Given the description of an element on the screen output the (x, y) to click on. 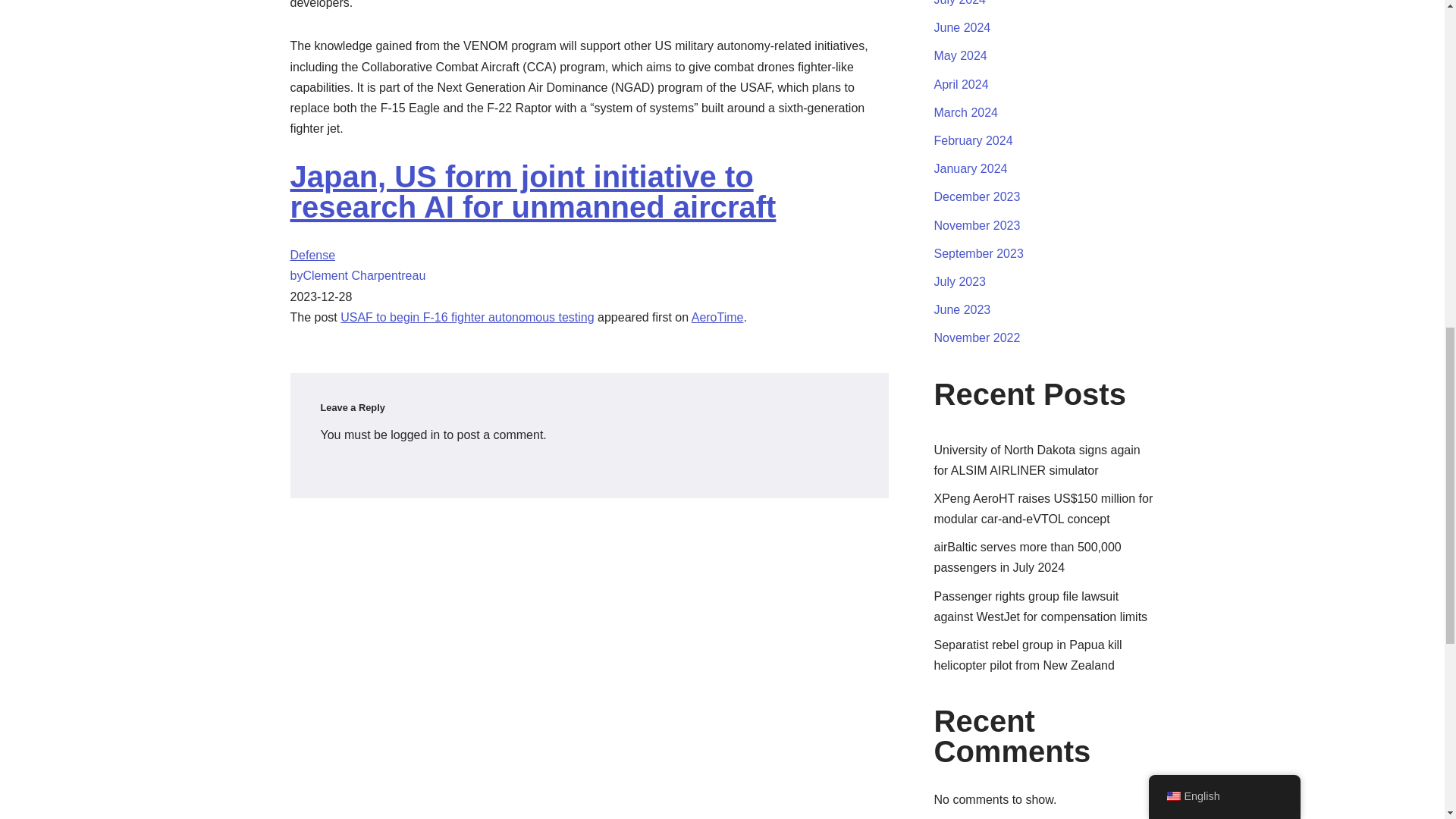
View all posts by Clement Charpentreau (357, 275)
USAF to begin F-16 fighter autonomous testing (467, 317)
Defense (311, 254)
byClement Charpentreau (357, 275)
